Given the description of an element on the screen output the (x, y) to click on. 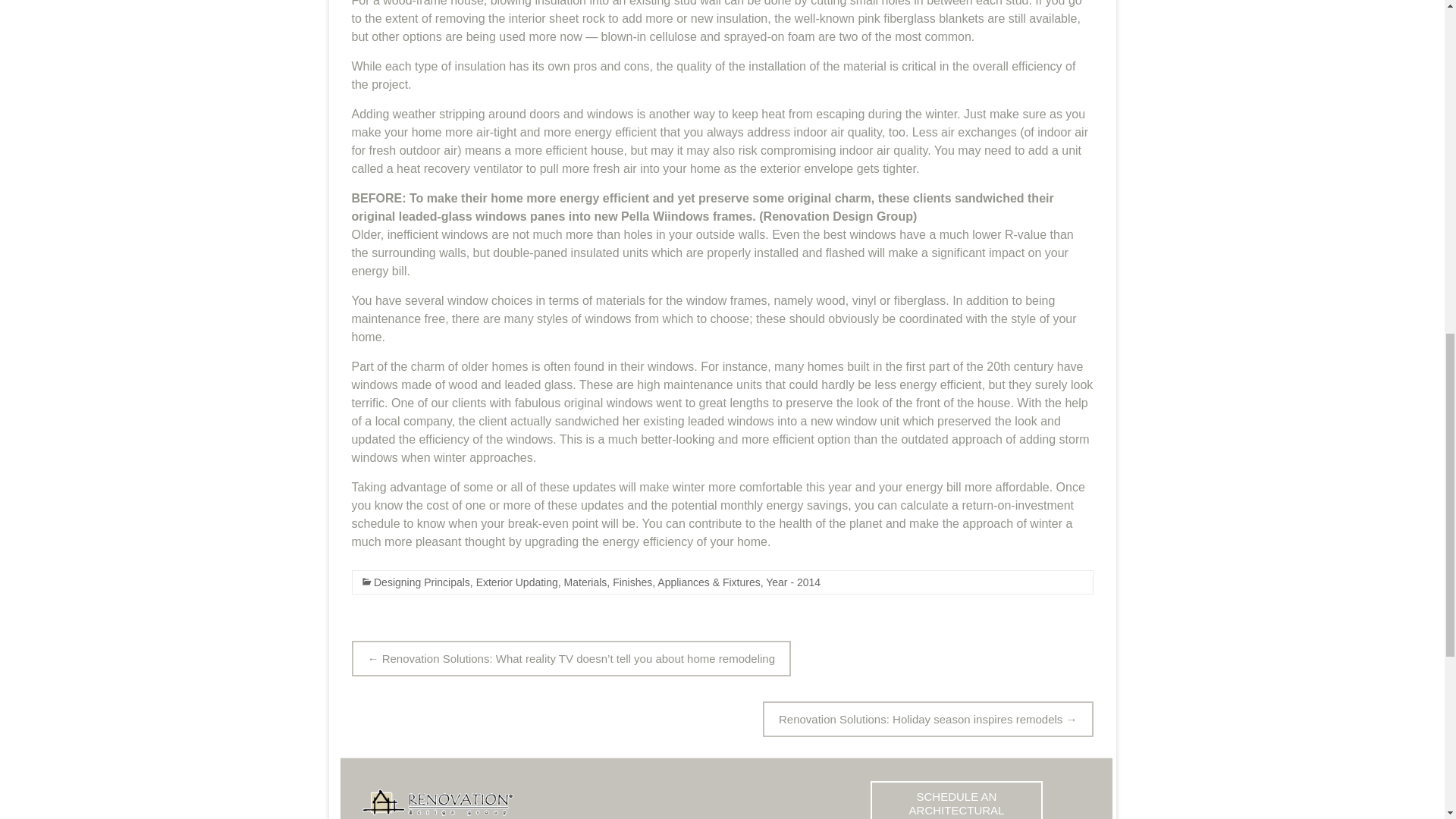
Year - 2014 (793, 582)
Designing Principals (420, 582)
Exterior Updating (516, 582)
SCHEDULE AN ARCHITECTURAL CONSULTATION (956, 800)
